Given the description of an element on the screen output the (x, y) to click on. 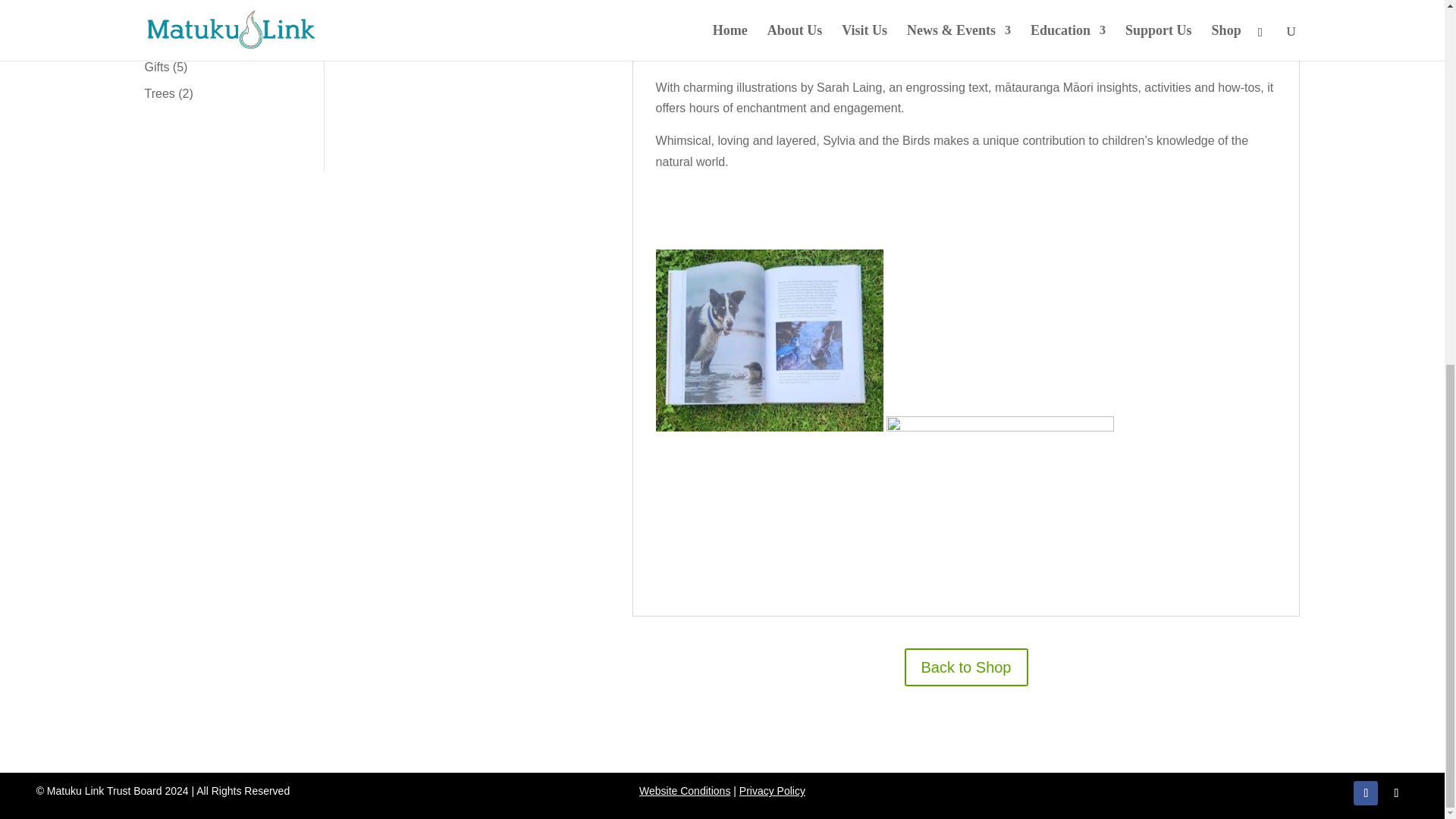
Trees (159, 92)
1 (410, 5)
Privacy Policy (772, 790)
Website Conditions (684, 790)
Equipment (173, 40)
Follow on X (1395, 793)
Gifts (156, 66)
Clothing (166, 13)
Follow on Facebook (1365, 793)
Back to Shop (965, 667)
Privacy Policy (772, 790)
Add to cart (505, 6)
